Given the description of an element on the screen output the (x, y) to click on. 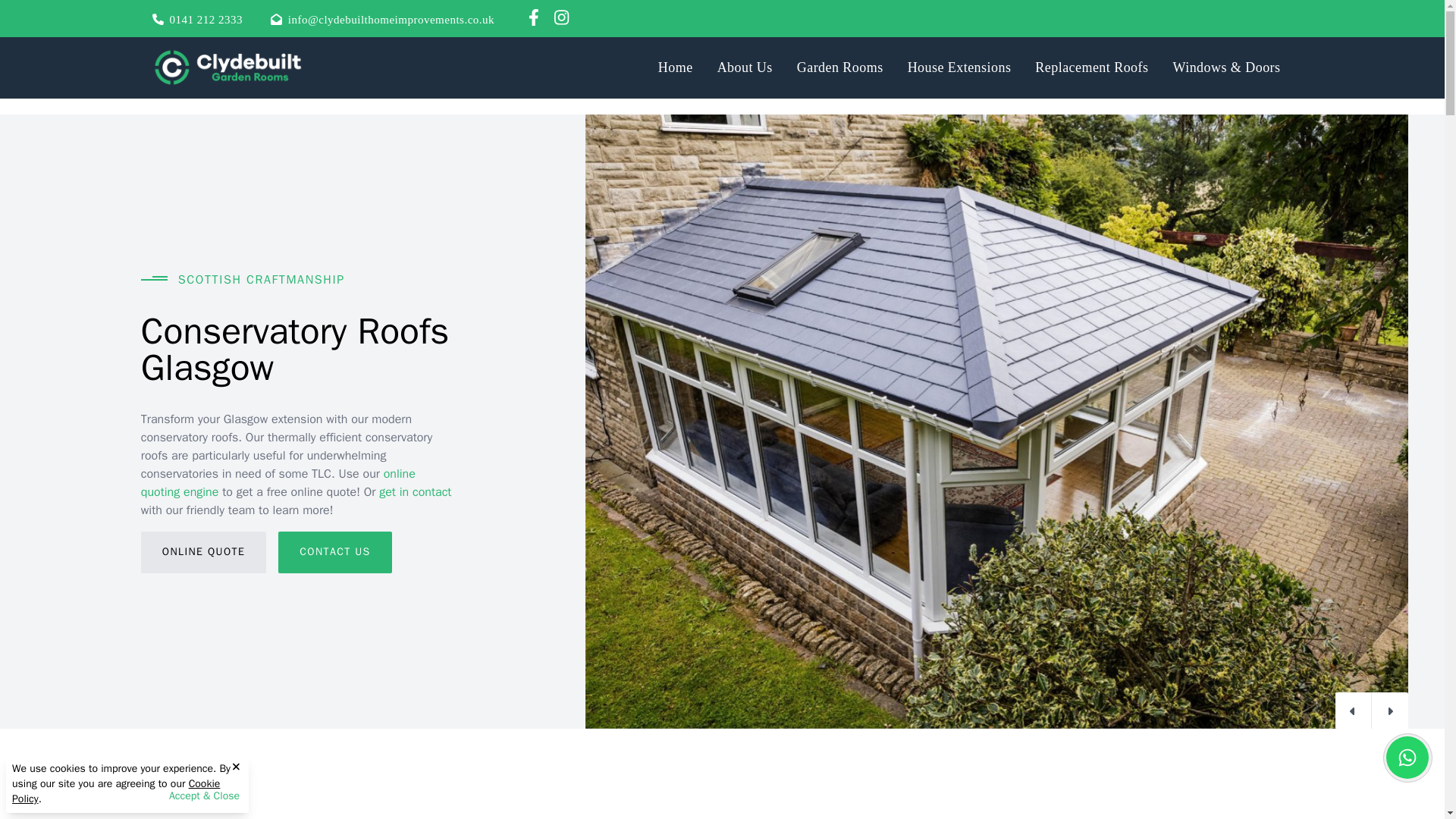
0141 212 2333 (206, 19)
About Us (744, 67)
Home (675, 67)
